Given the description of an element on the screen output the (x, y) to click on. 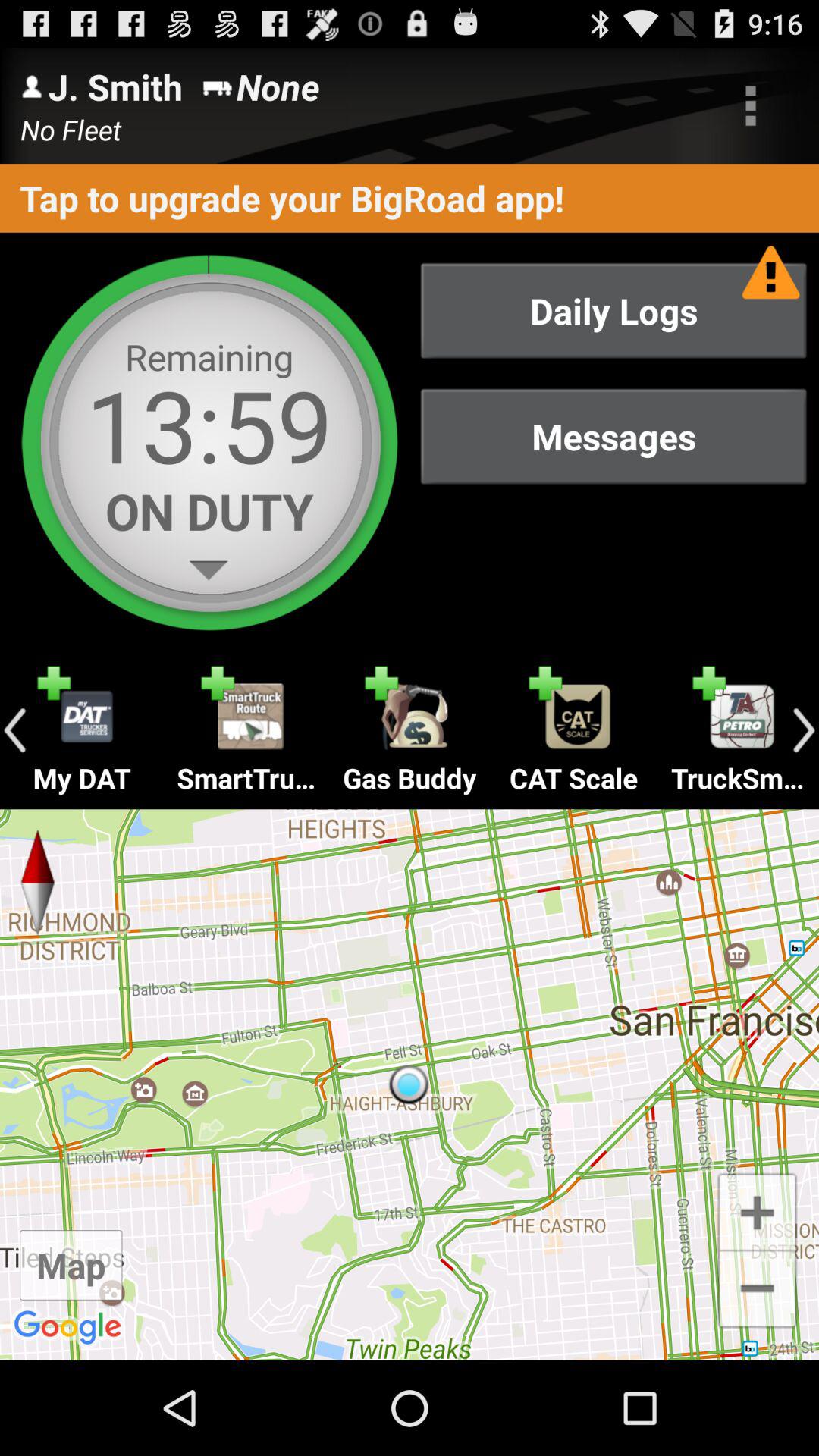
choose item next to none (750, 105)
